Given the description of an element on the screen output the (x, y) to click on. 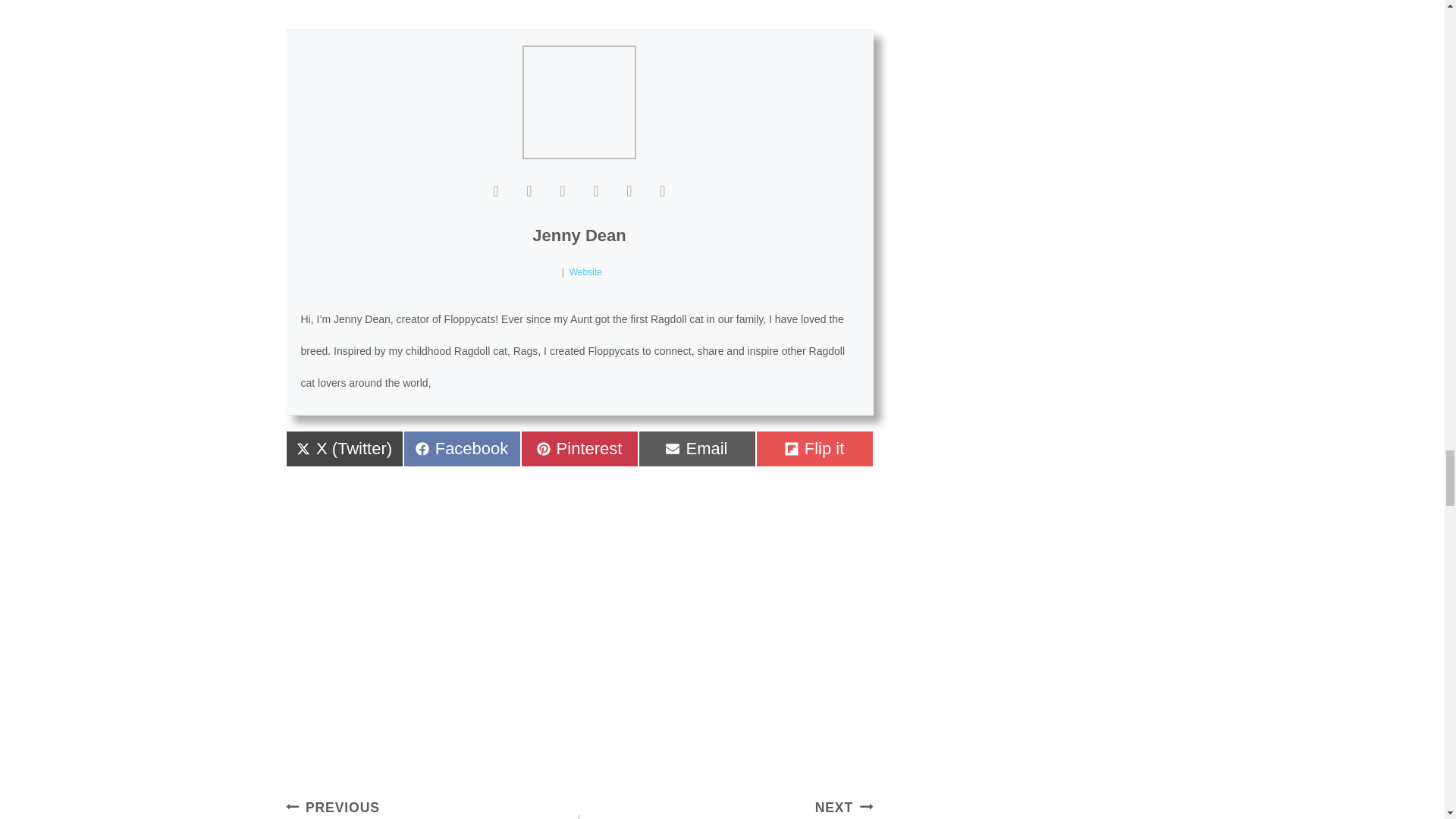
Website (697, 448)
Jenny Dean (585, 271)
